Given the description of an element on the screen output the (x, y) to click on. 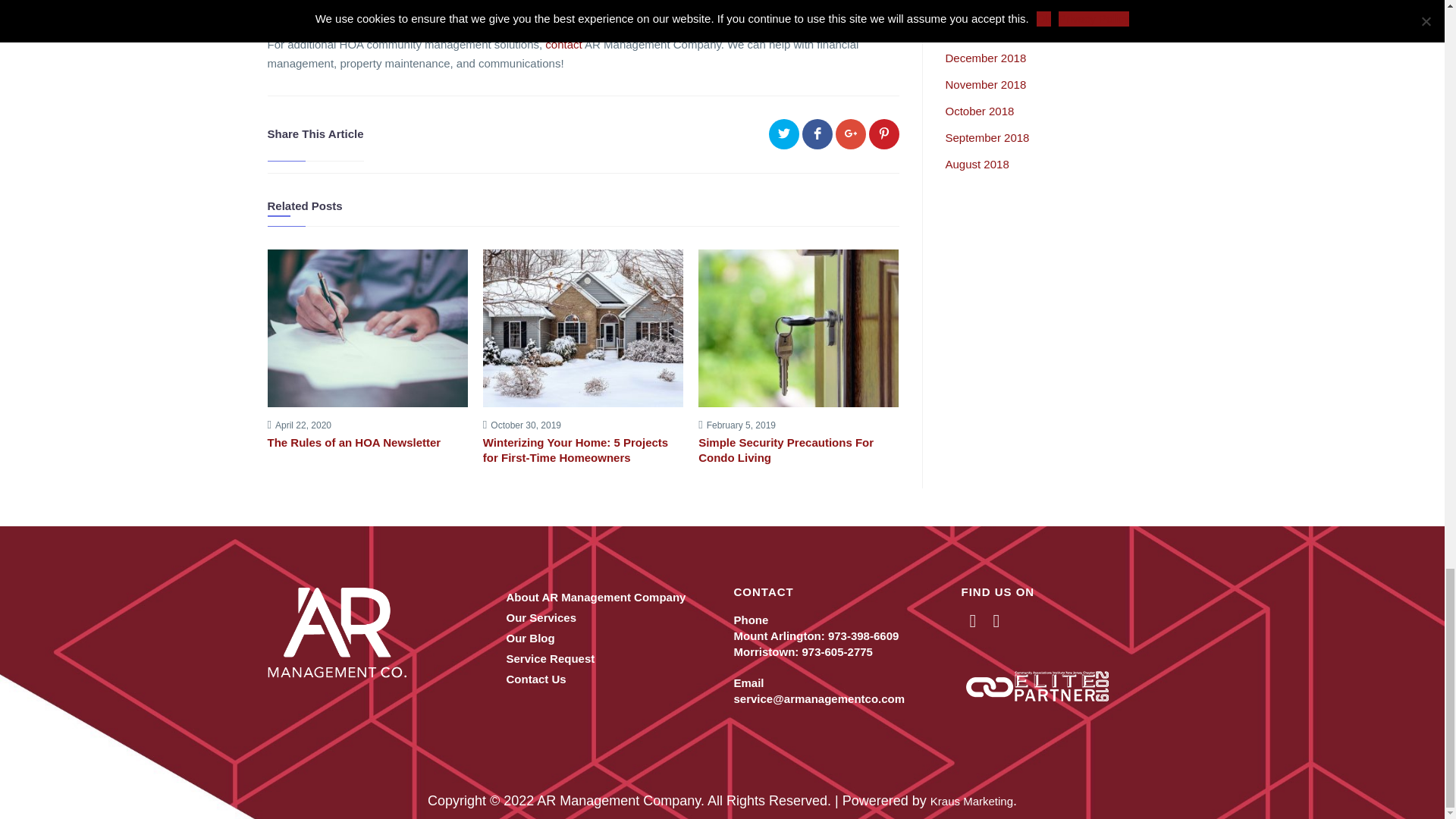
Share on Twitter (783, 133)
Share on Facebook (817, 133)
Simple Security Precautions For Condo Living (798, 450)
contact (562, 43)
The Rules of an HOA Newsletter (366, 442)
The Rules of an HOA Newsletter (366, 442)
Winterizing Your Home: 5 Projects for First-Time Homeowners (582, 450)
Share on Pinterest (884, 133)
Winterizing Your Home: 5 Projects for First-Time Homeowners (582, 450)
Simple Security Precautions For Condo Living (798, 450)
